Given the description of an element on the screen output the (x, y) to click on. 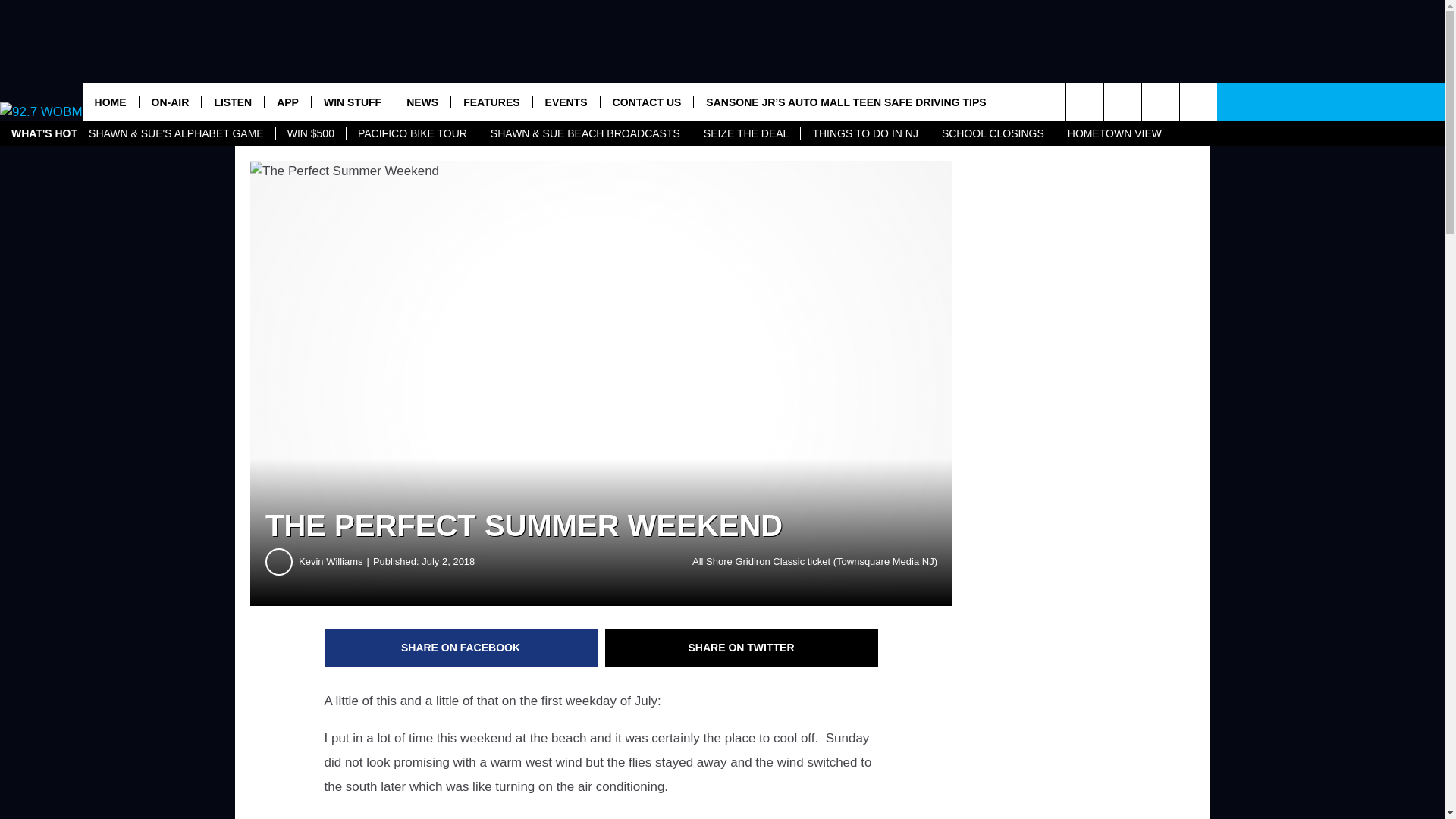
ON-AIR (170, 102)
WIN STUFF (352, 102)
PACIFICO BIKE TOUR (412, 133)
THINGS TO DO IN NJ (864, 133)
Share on Facebook (460, 647)
HOME (110, 102)
NEWS (421, 102)
HOMETOWN VIEW (1114, 133)
APP (287, 102)
Share on Twitter (741, 647)
SCHOOL CLOSINGS (992, 133)
SEIZE THE DEAL (745, 133)
LISTEN (231, 102)
